Given the description of an element on the screen output the (x, y) to click on. 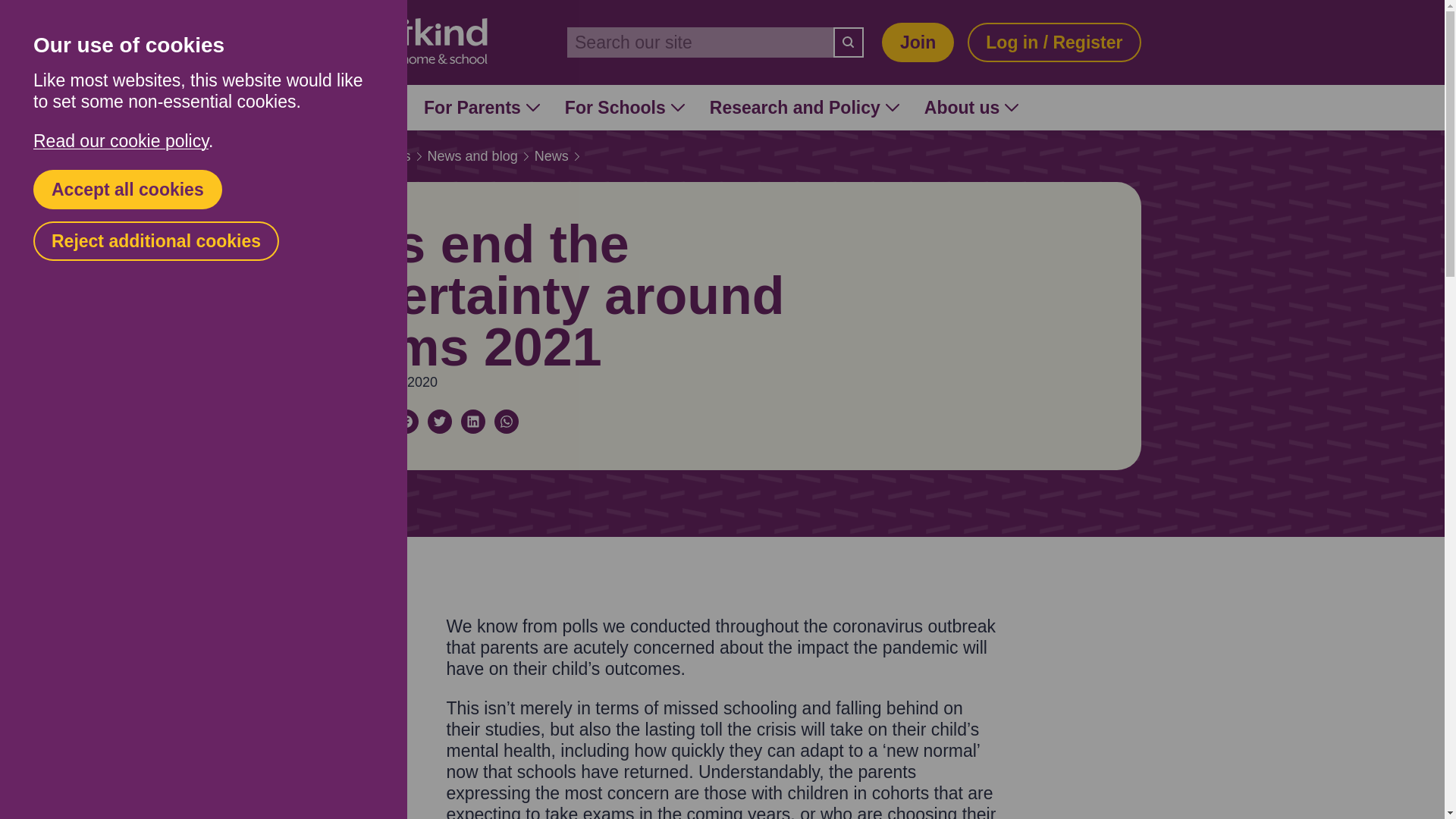
Research and Policy (804, 107)
Search (847, 42)
About us (971, 107)
For Schools (624, 107)
Join (917, 42)
For PTAs (350, 107)
For Parents (481, 107)
